Given the description of an element on the screen output the (x, y) to click on. 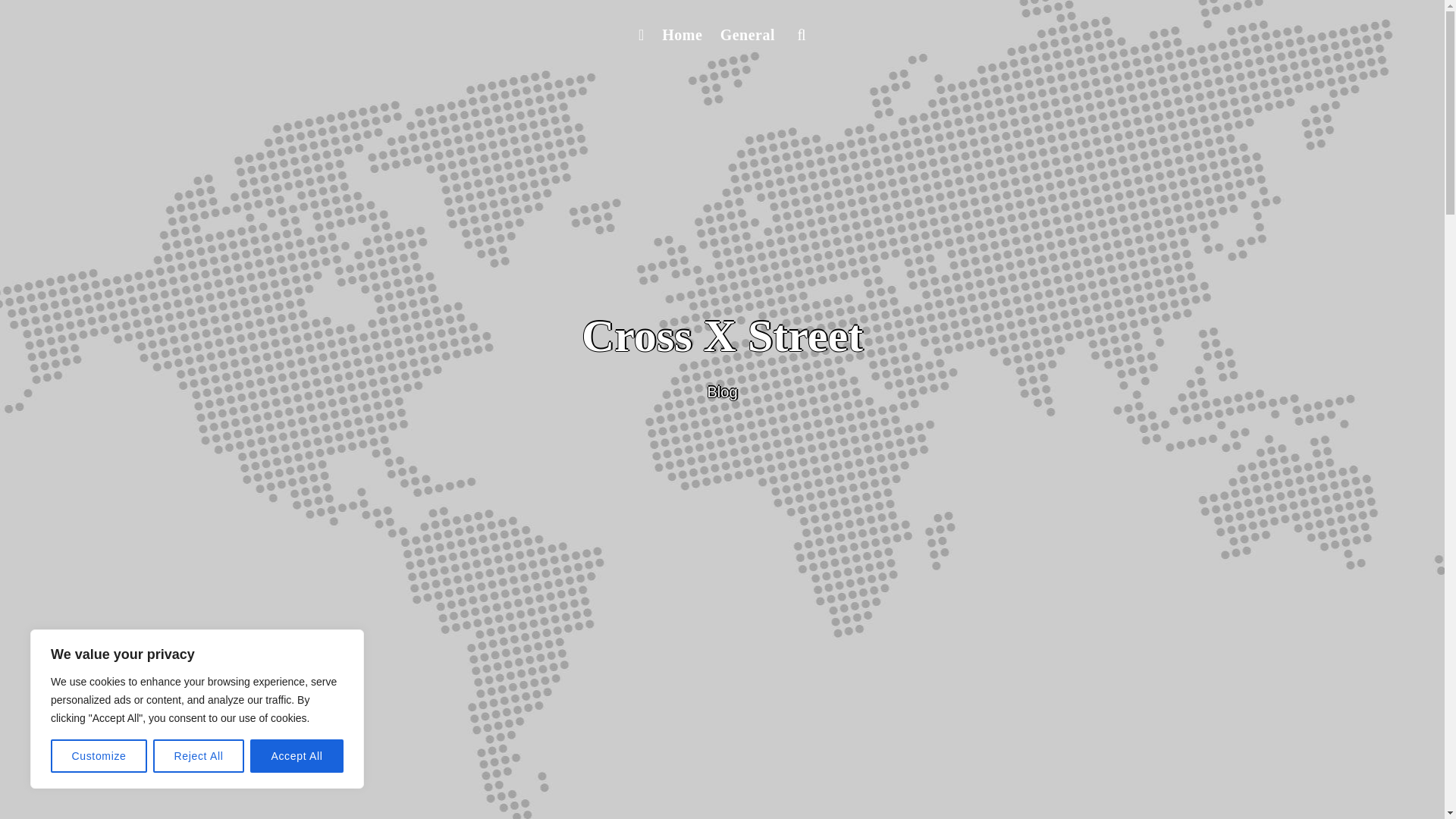
General (747, 35)
Reject All (198, 756)
Cross X Street (721, 336)
Accept All (296, 756)
Home (681, 35)
Customize (98, 756)
